Given the description of an element on the screen output the (x, y) to click on. 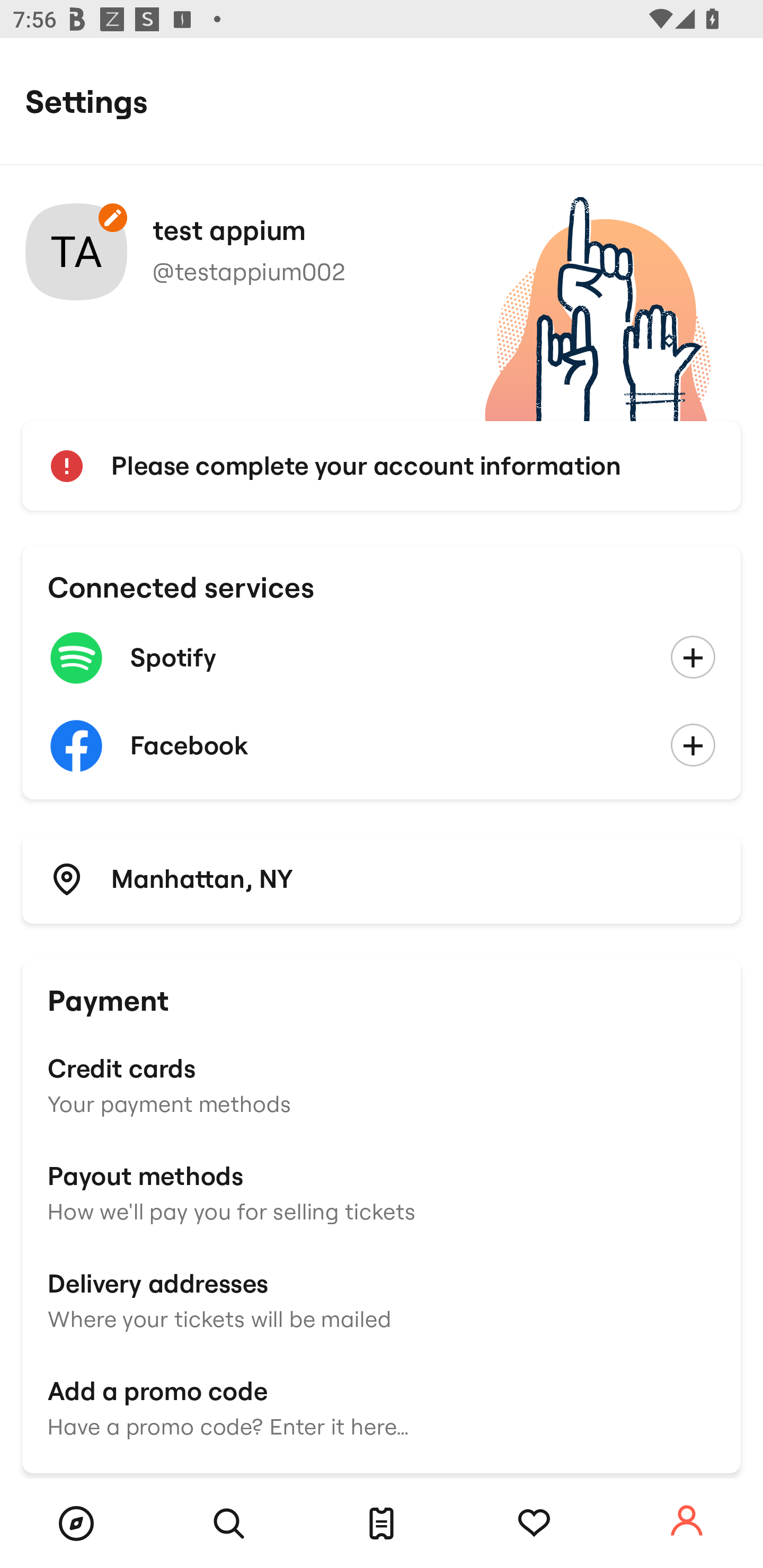
Your account photo (76, 252)
Please complete your account information (381, 466)
Spotify (381, 658)
Facebook (381, 746)
Manhattan, NY (381, 878)
Credit cards Your payment methods (381, 1084)
Add a promo code Have a promo code? Enter it here… (381, 1406)
Browse (76, 1523)
Search (228, 1523)
Tickets (381, 1523)
Tracking (533, 1523)
Account (686, 1521)
